Given the description of an element on the screen output the (x, y) to click on. 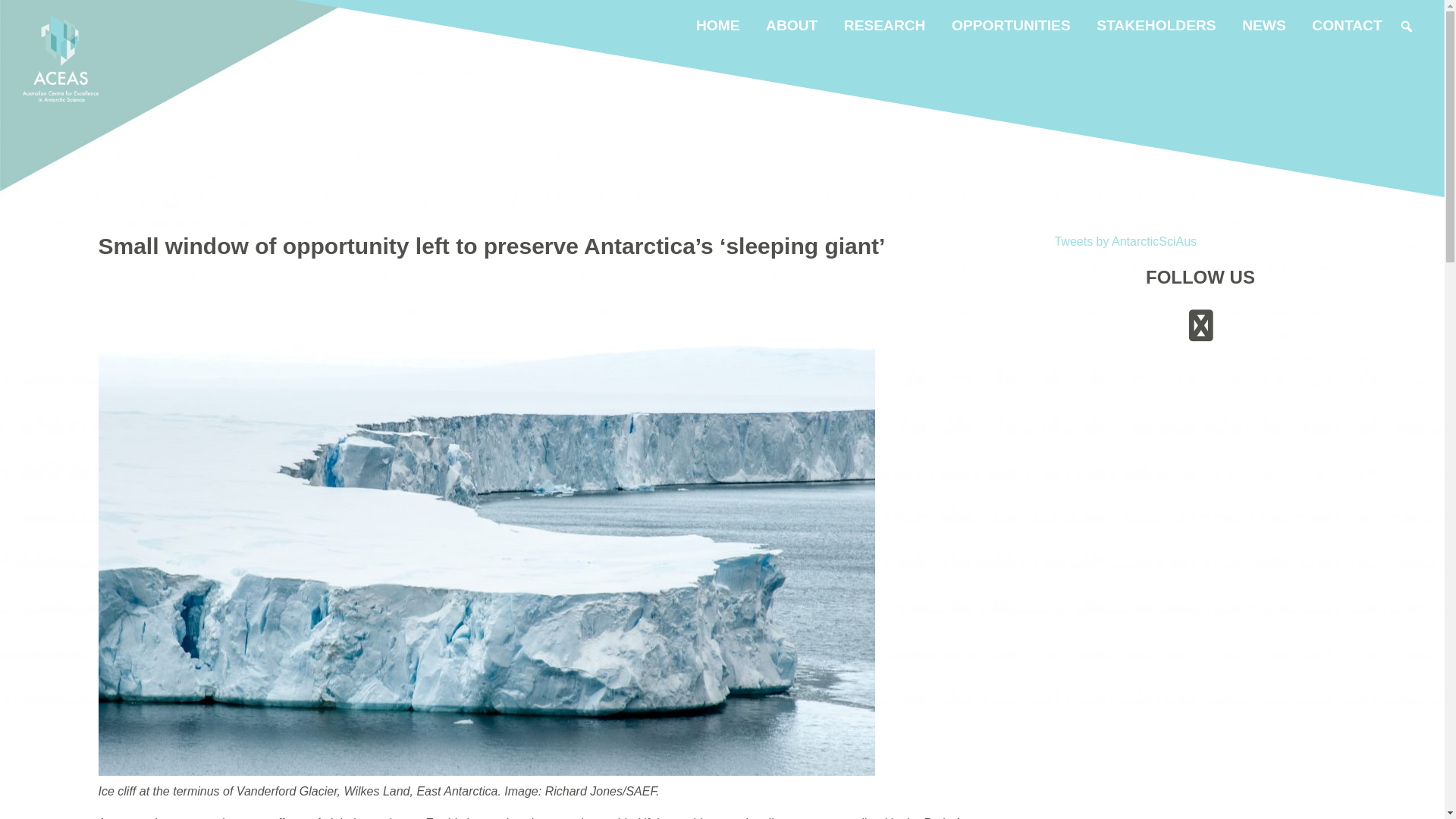
OPPORTUNITIES Element type: text (1010, 25)
Tweets by AntarcticSciAus Element type: text (1125, 241)
CONTACT Element type: text (1347, 25)
ABOUT Element type: text (792, 25)
HOME Element type: text (718, 25)
RESEARCH Element type: text (884, 25)
STAKEHOLDERS Element type: text (1156, 25)
ACEAS Logo Concept 1 WHT Element type: hover (60, 58)
Search Element type: text (22, 17)
NEWS Element type: text (1264, 25)
